Given the description of an element on the screen output the (x, y) to click on. 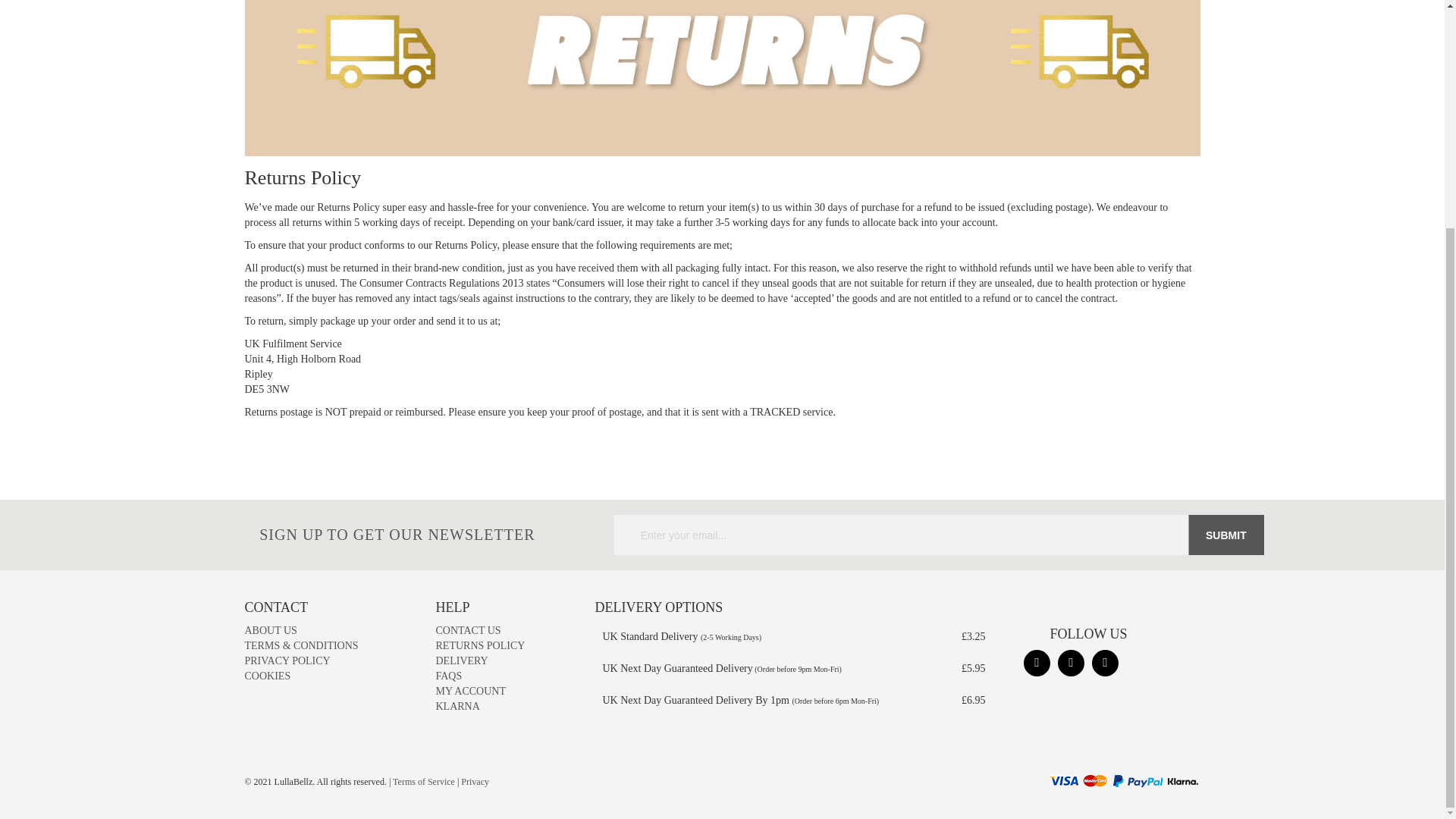
PRIVACY POLICY (287, 660)
KLARNA (457, 706)
FAQS (448, 675)
Instagram (1036, 663)
YouTube (1071, 663)
DELIVERY (461, 660)
Facebook (1105, 663)
MY ACCOUNT (470, 690)
COOKIES (266, 675)
CONTACT US (467, 630)
RETURNS POLICY (479, 645)
ABOUT US (270, 630)
SUBMIT (1225, 535)
SUBMIT (1225, 535)
